Given the description of an element on the screen output the (x, y) to click on. 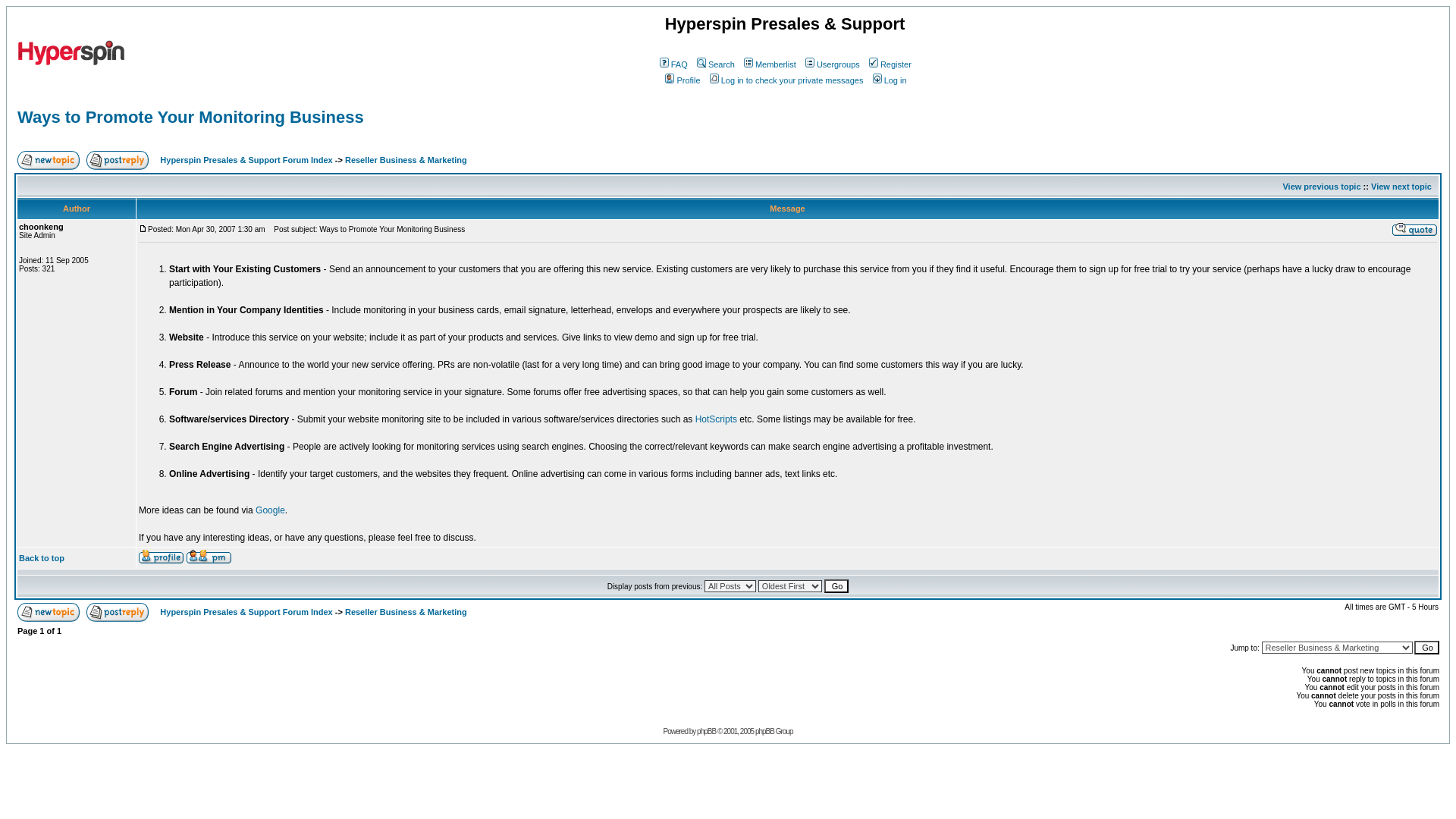
Go (1426, 647)
Go (1426, 647)
Send private message (208, 556)
View next topic (1401, 185)
Back to top (41, 557)
Register (888, 63)
View user's profile (160, 556)
Memberlist (768, 63)
Post (143, 228)
Usergroups (831, 63)
HotScripts (715, 419)
Log in to check your private messages (785, 80)
Go (836, 585)
View previous topic (1320, 185)
Ways to Promote Your Monitoring Business (190, 116)
